Given the description of an element on the screen output the (x, y) to click on. 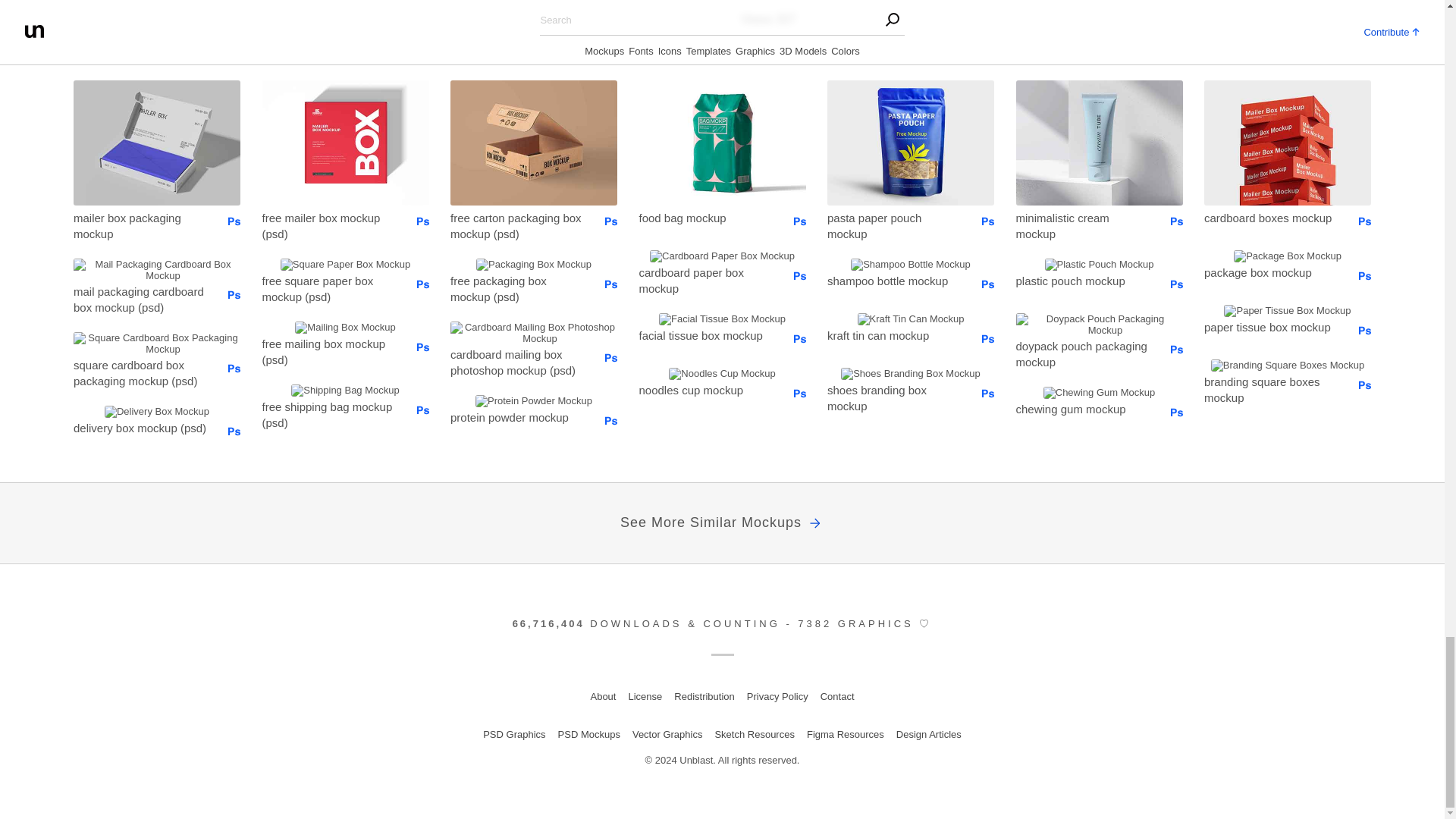
mailer box packaging mockup (140, 225)
food bag mockup (705, 217)
protein powder mockup (516, 416)
